Given the description of an element on the screen output the (x, y) to click on. 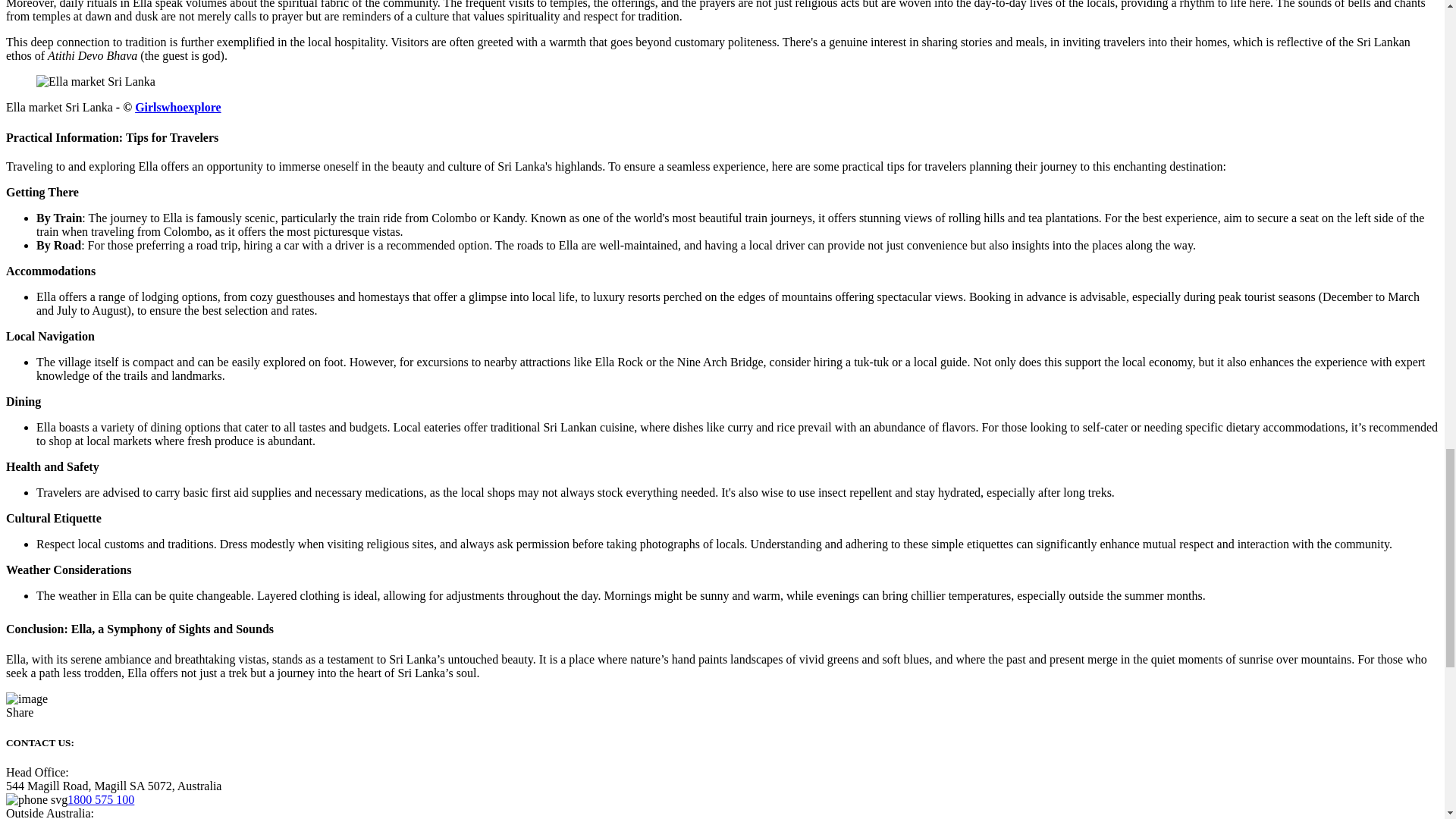
1800 575 100 (99, 799)
Girlswhoexplore (178, 106)
